Given the description of an element on the screen output the (x, y) to click on. 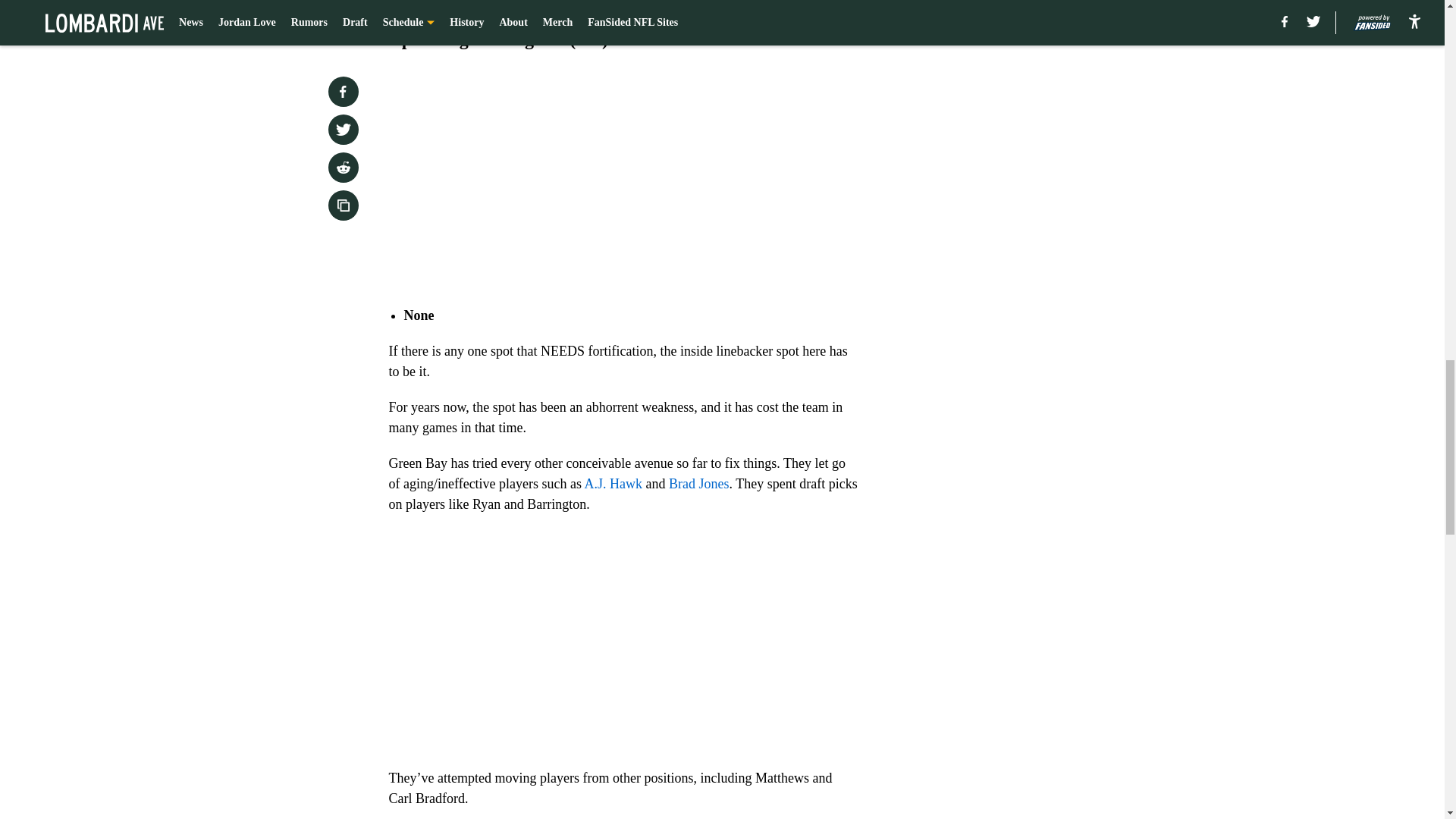
Sam Barrington (446, 4)
Brad Jones (698, 483)
A.J. Hawk (614, 483)
